Given the description of an element on the screen output the (x, y) to click on. 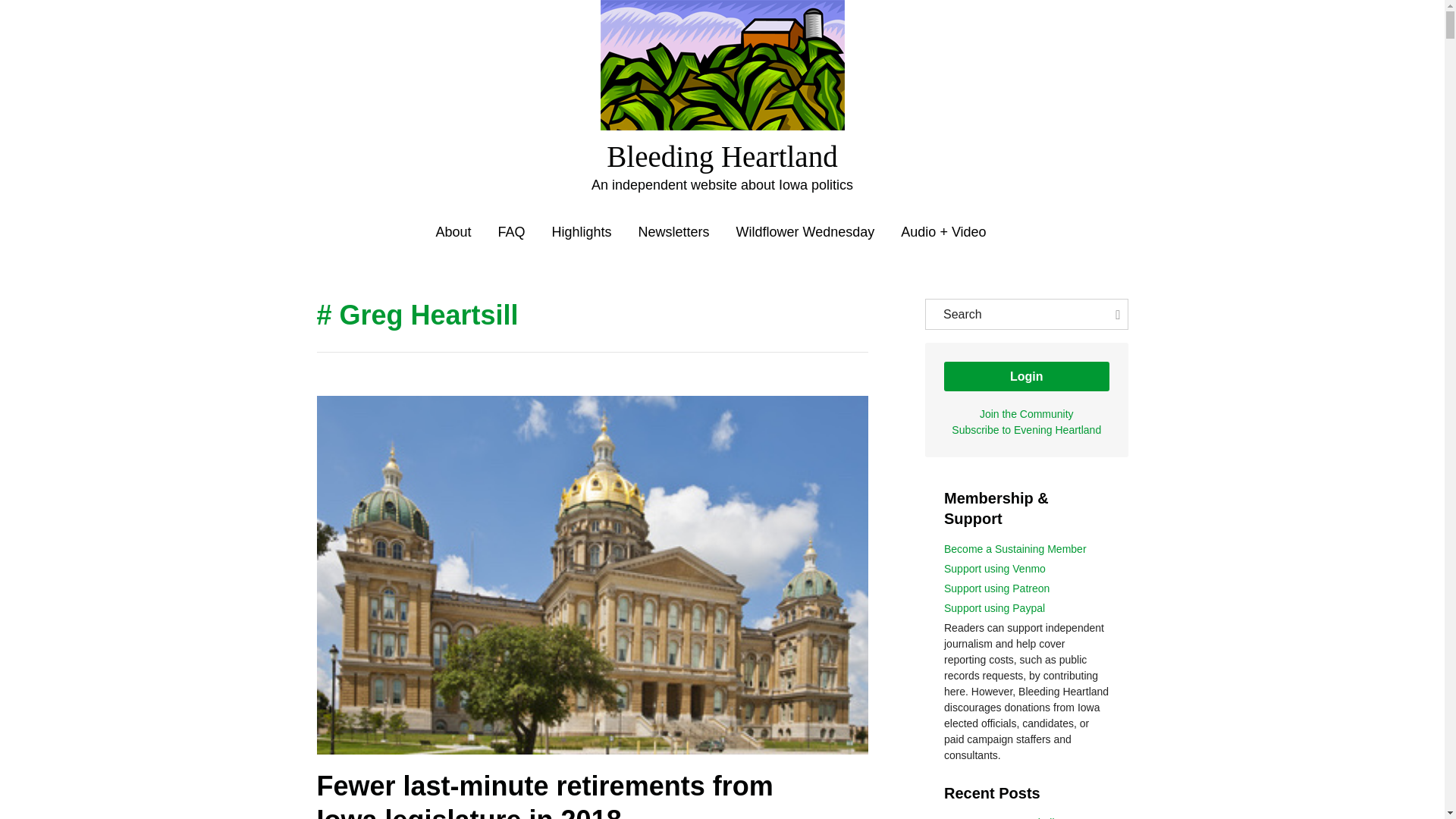
Fewer last-minute retirements from Iowa legislature in 2018 (545, 794)
FAQ (510, 231)
Wildflower Wednesday (805, 231)
About (452, 231)
Newsletters (674, 231)
Highlights (581, 231)
